Given the description of an element on the screen output the (x, y) to click on. 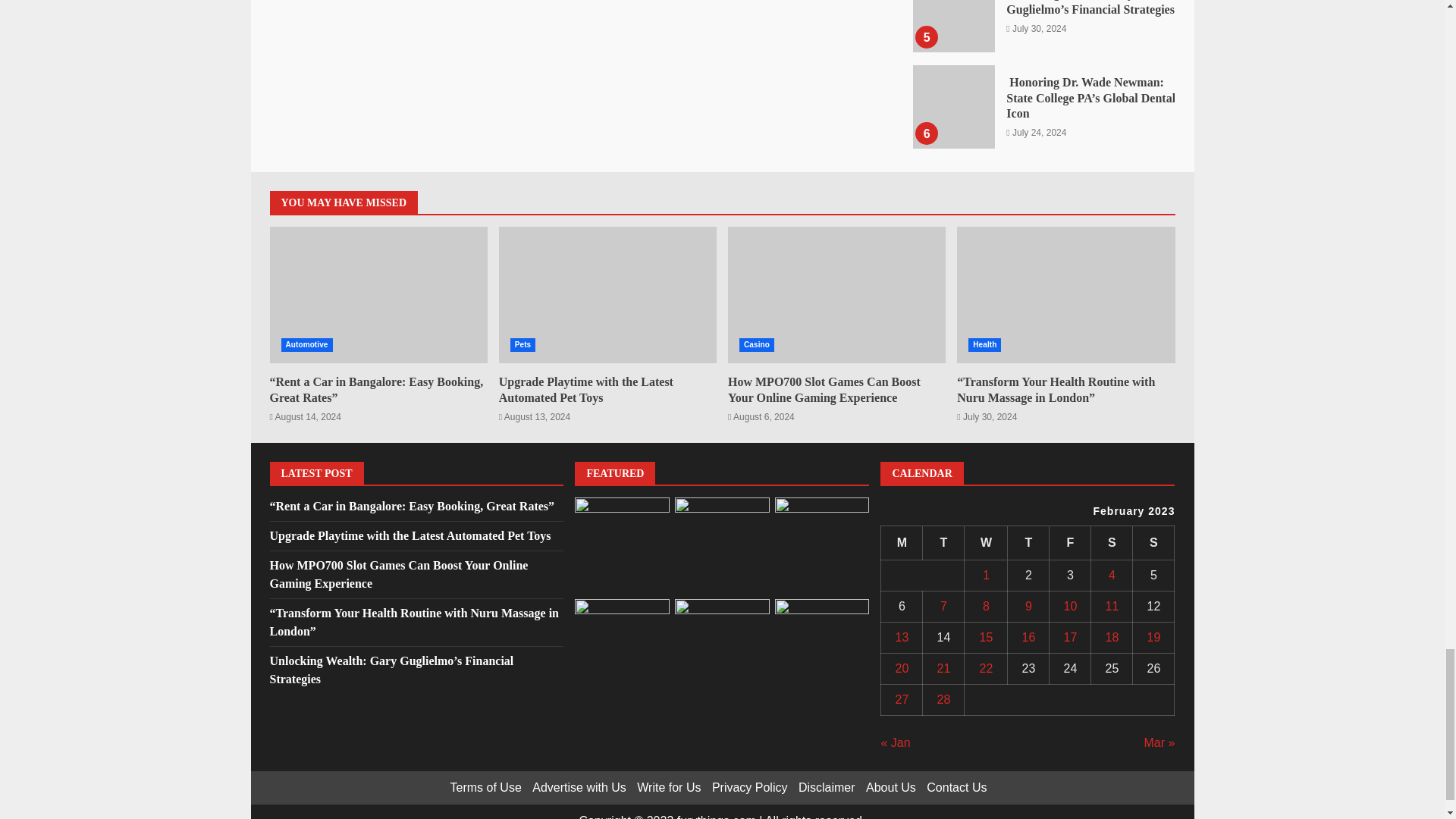
Friday (1069, 542)
Thursday (1028, 542)
Sunday (1153, 542)
Tuesday (943, 542)
Monday (901, 542)
Saturday (1111, 542)
Wednesday (985, 542)
